Given the description of an element on the screen output the (x, y) to click on. 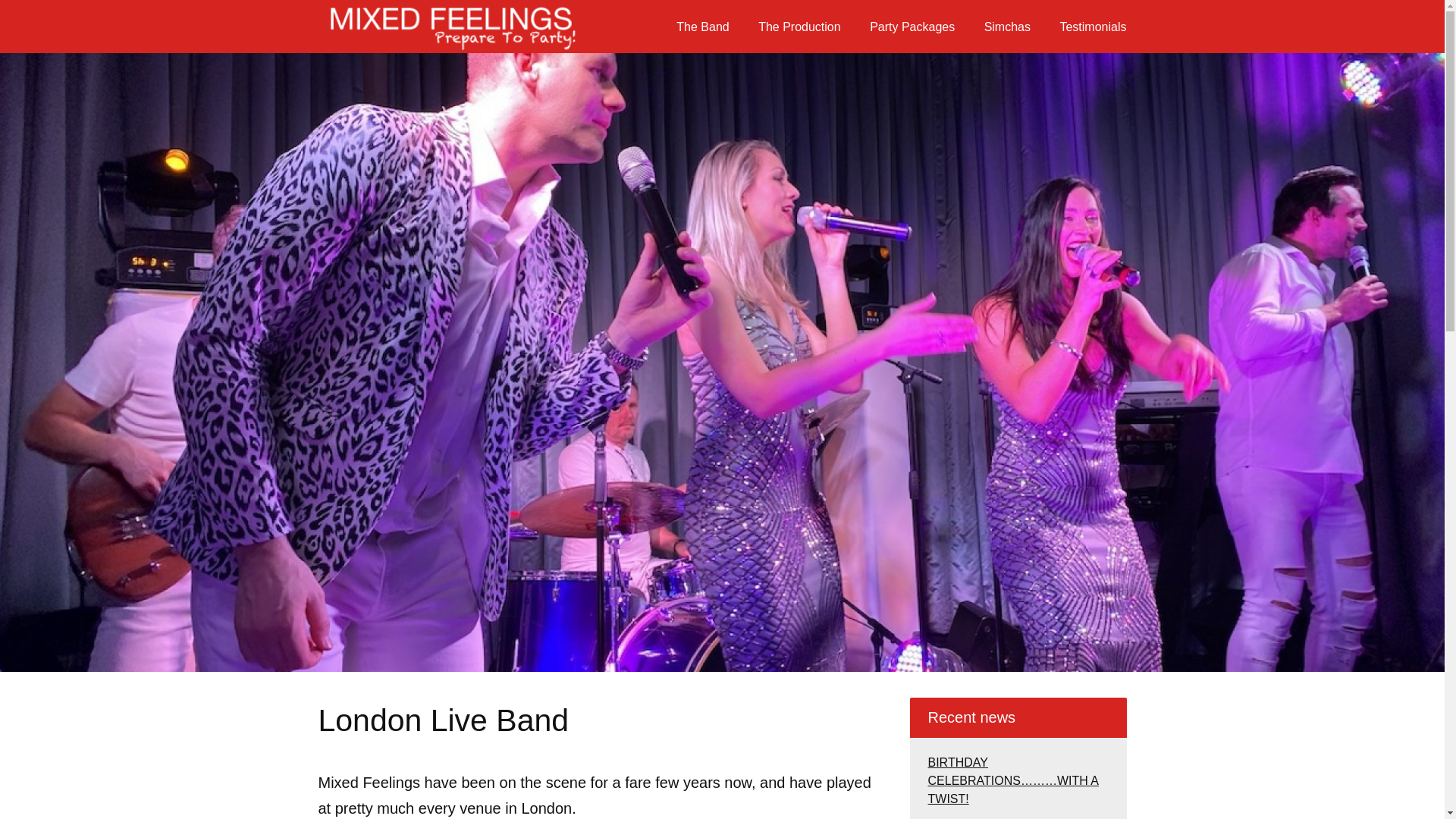
click to go home (450, 26)
Party Packages (912, 25)
The Production (799, 25)
The Band (702, 25)
